Given the description of an element on the screen output the (x, y) to click on. 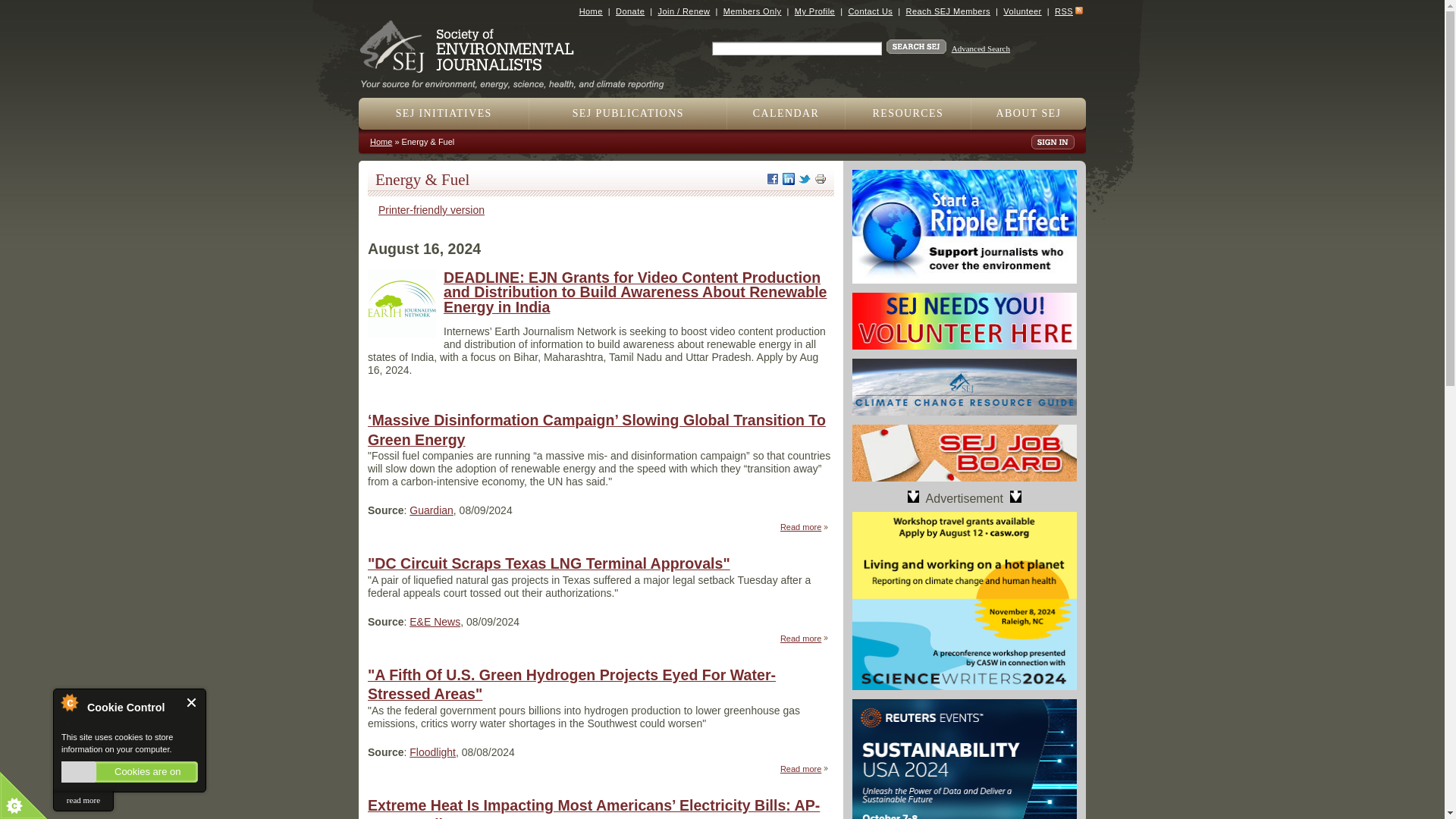
read more (82, 801)
RSS (1063, 10)
Advanced Search (981, 48)
Contact Us (869, 10)
Home (518, 79)
Members Only (752, 10)
Donate (630, 10)
My Profile (814, 10)
Reach SEJ Members (947, 10)
Volunteer (1022, 10)
